Given the description of an element on the screen output the (x, y) to click on. 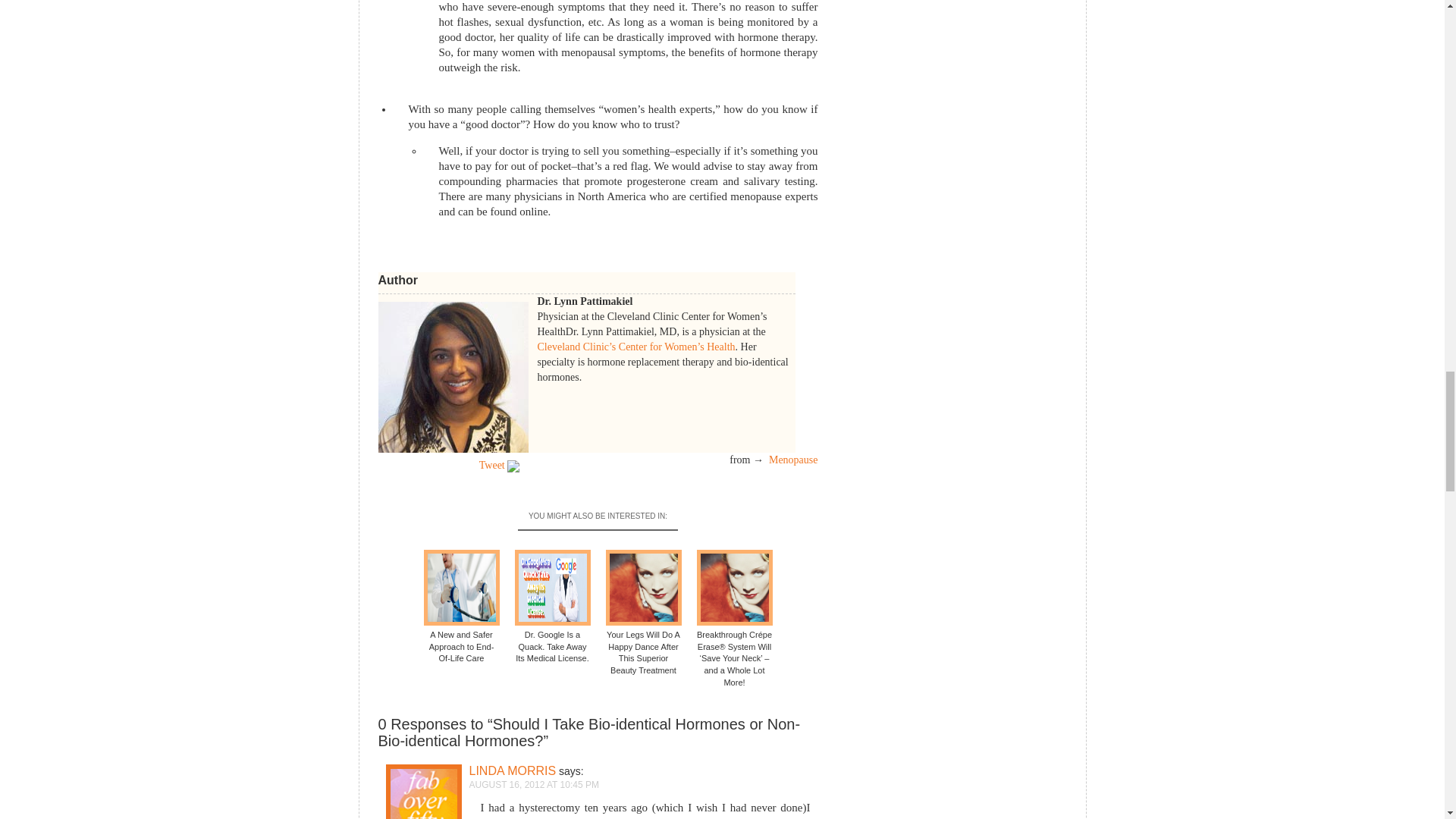
A New and Safer Approach to End-Of-Life Care (461, 607)
Dr. Google Is a Quack. Take Away Its Medical License. (551, 607)
Tweet (492, 464)
Menopause (793, 460)
